Given the description of an element on the screen output the (x, y) to click on. 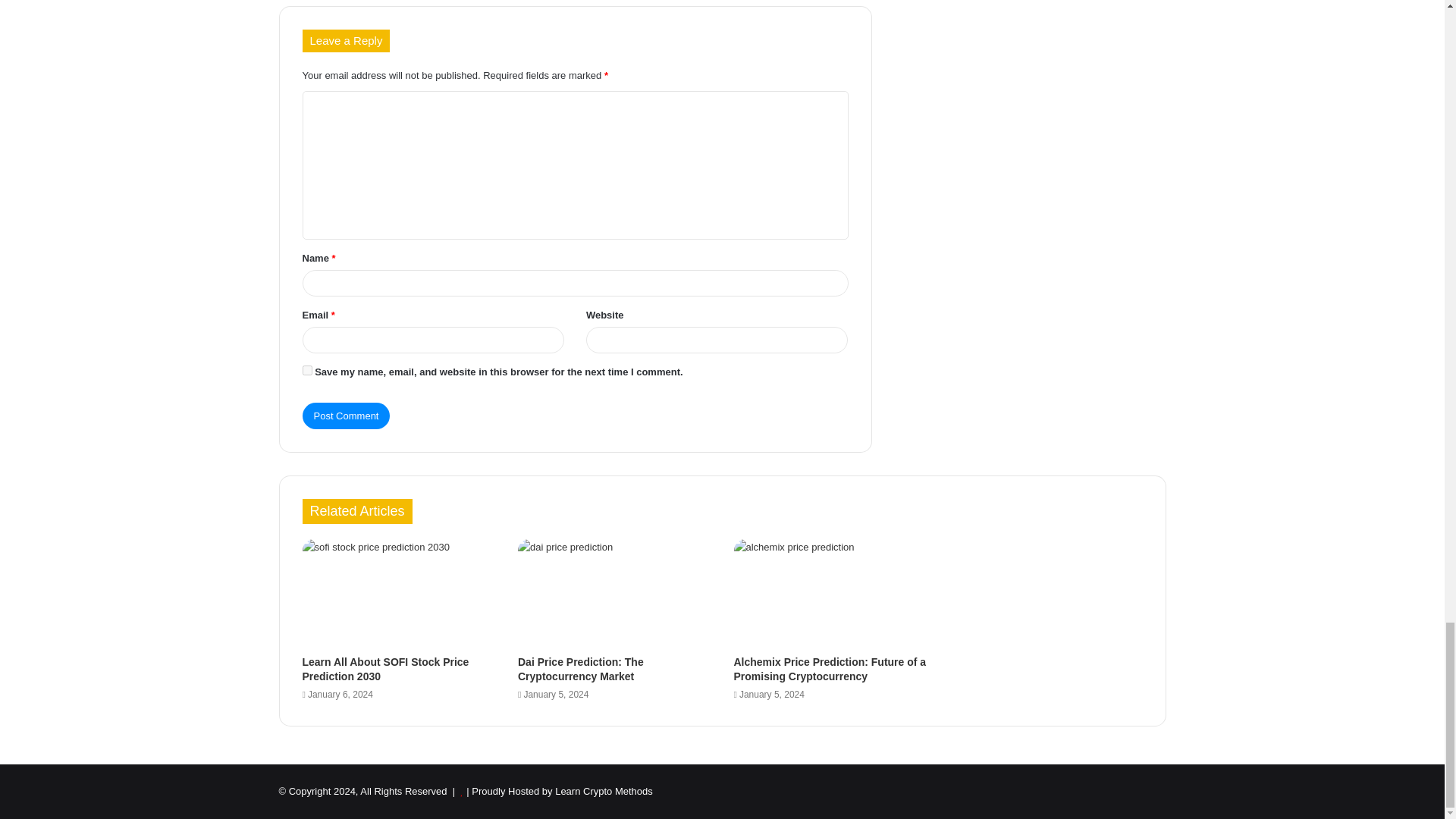
yes (306, 369)
Post Comment (345, 415)
Post Comment (345, 415)
